Given the description of an element on the screen output the (x, y) to click on. 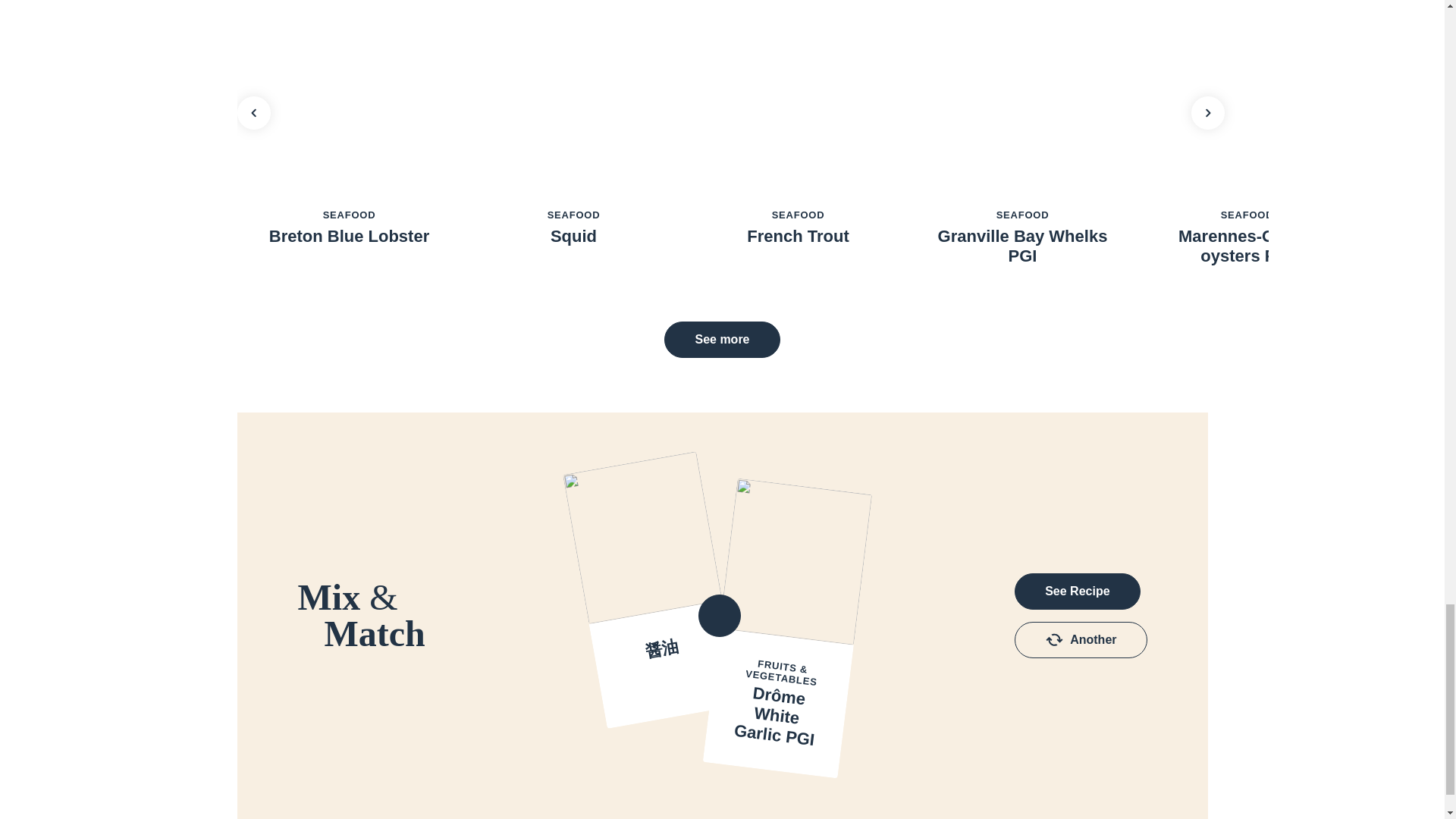
SEAFOOD (1246, 214)
Granville Bay Whelks PGI (1021, 246)
SEAFOOD (1021, 214)
SEAFOOD (572, 214)
French Trout (797, 236)
Squid (572, 236)
SEAFOOD (348, 214)
SEAFOOD (797, 214)
Breton Blue Lobster (348, 236)
